Given the description of an element on the screen output the (x, y) to click on. 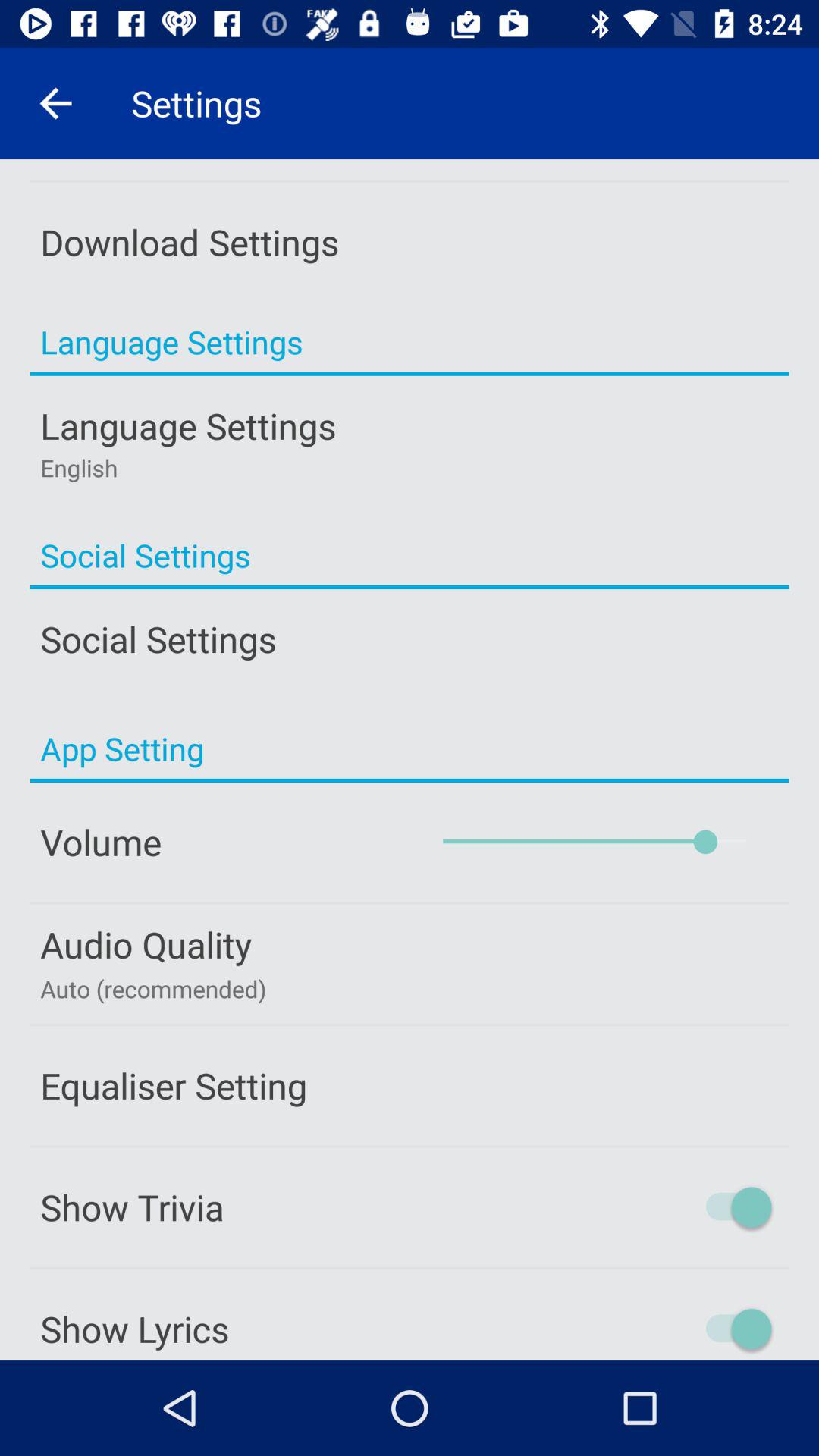
toggle off show lyrics (674, 1328)
